Given the description of an element on the screen output the (x, y) to click on. 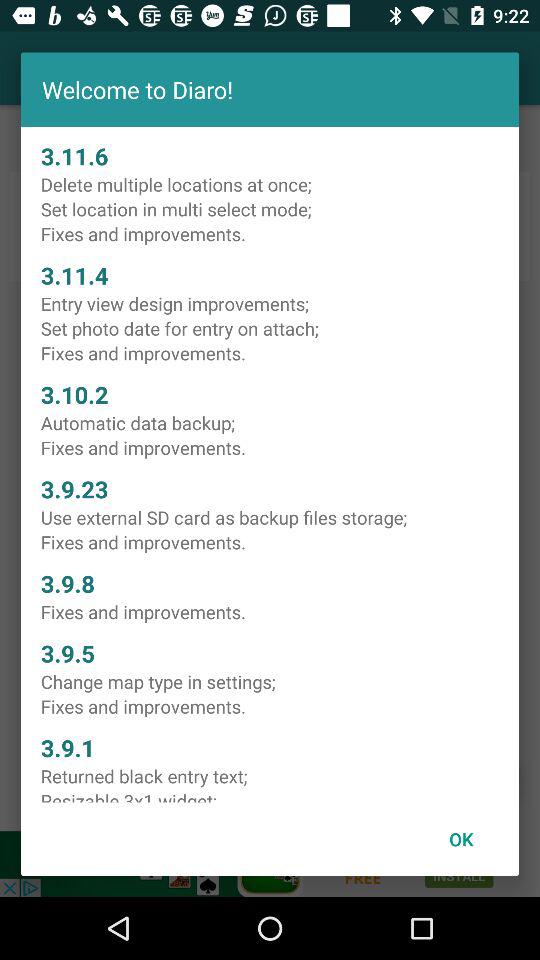
flip to ok icon (461, 838)
